Given the description of an element on the screen output the (x, y) to click on. 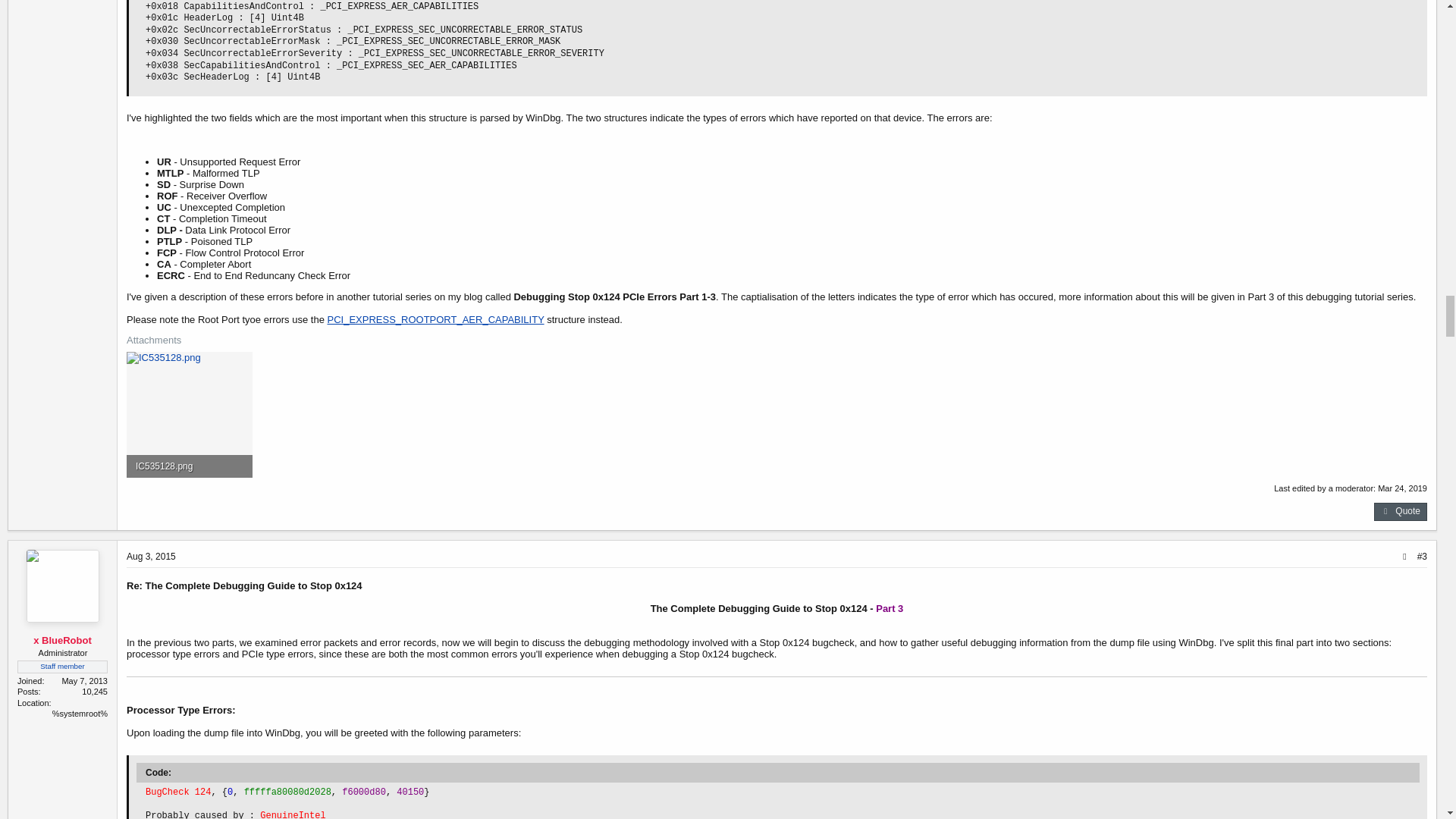
Aug 3, 2015 at 5:20 PM (151, 556)
Mar 24, 2019 at 2:10 PM (1401, 488)
Reply, quoting this message (1400, 511)
IC535128.png (189, 466)
